Given the description of an element on the screen output the (x, y) to click on. 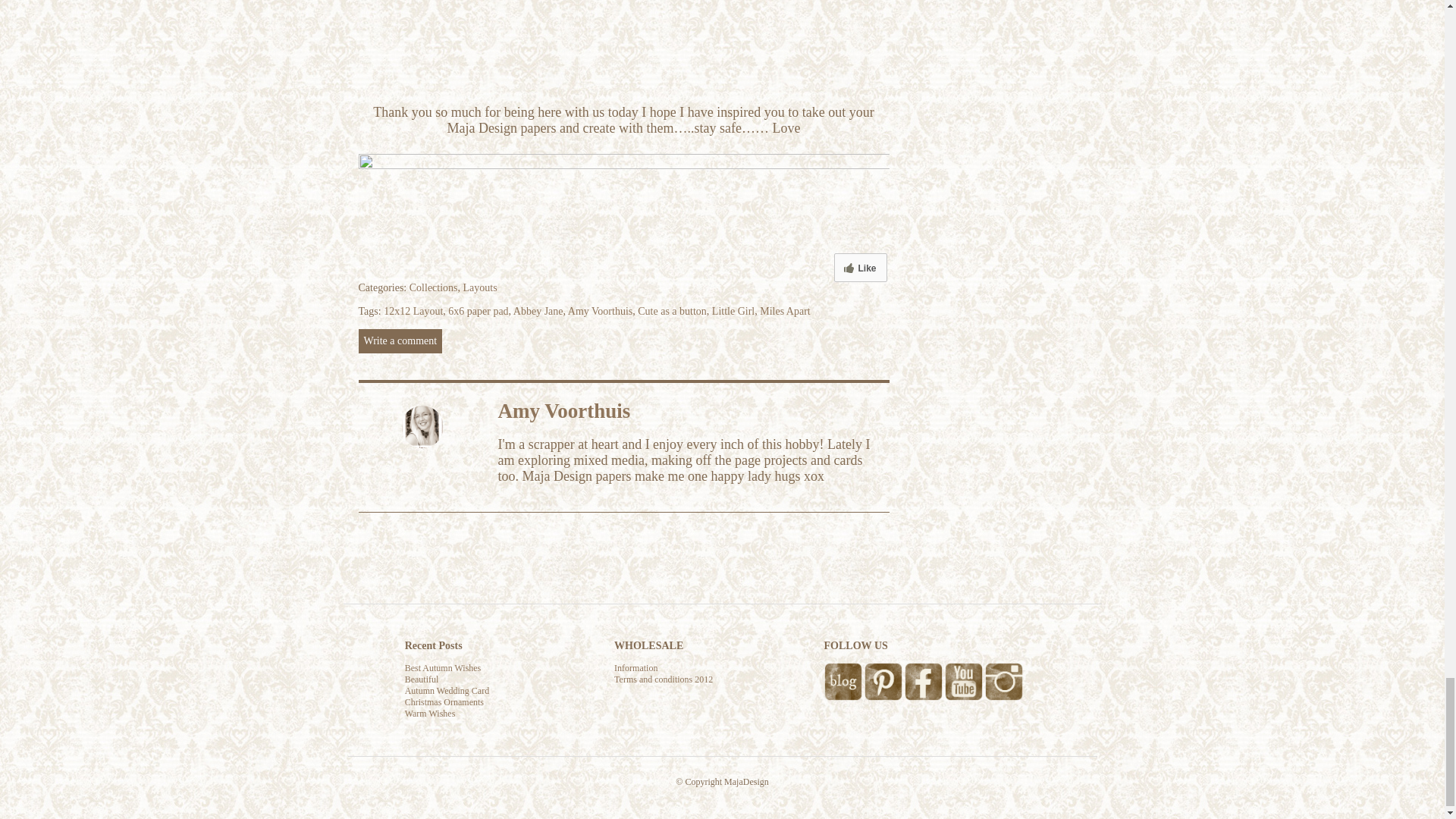
Abbey Jane (538, 310)
Layouts (480, 287)
12x12 Layout (413, 310)
Cute as a button (671, 310)
Little Girl (732, 310)
Write a comment (400, 340)
6x6 paper pad (478, 310)
Amy Voorthuis (599, 310)
Miles Apart (785, 310)
Comment (400, 340)
Amy Voorthuis (563, 410)
Collections (433, 287)
